Given the description of an element on the screen output the (x, y) to click on. 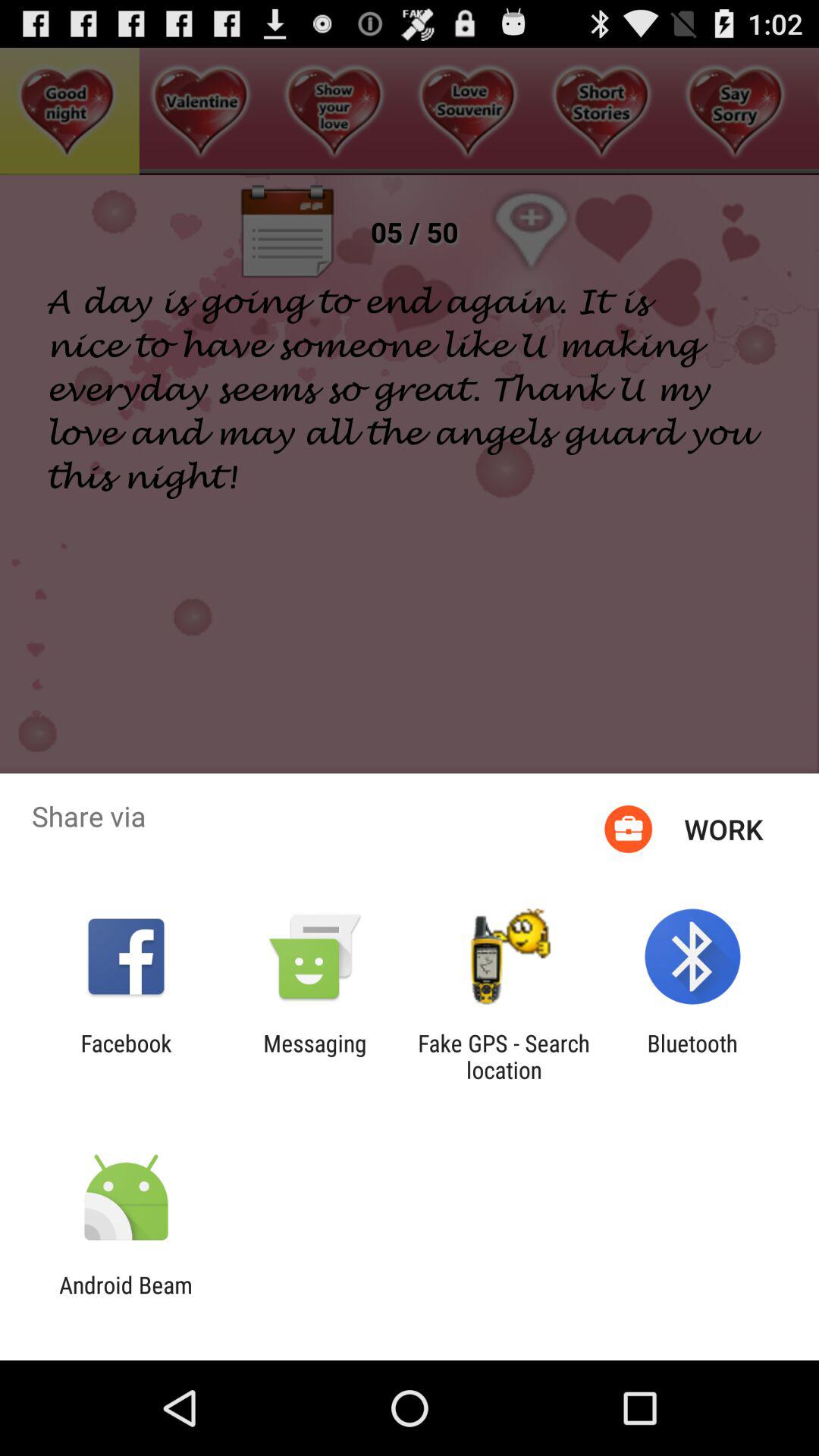
tap the app next to fake gps search icon (692, 1056)
